Given the description of an element on the screen output the (x, y) to click on. 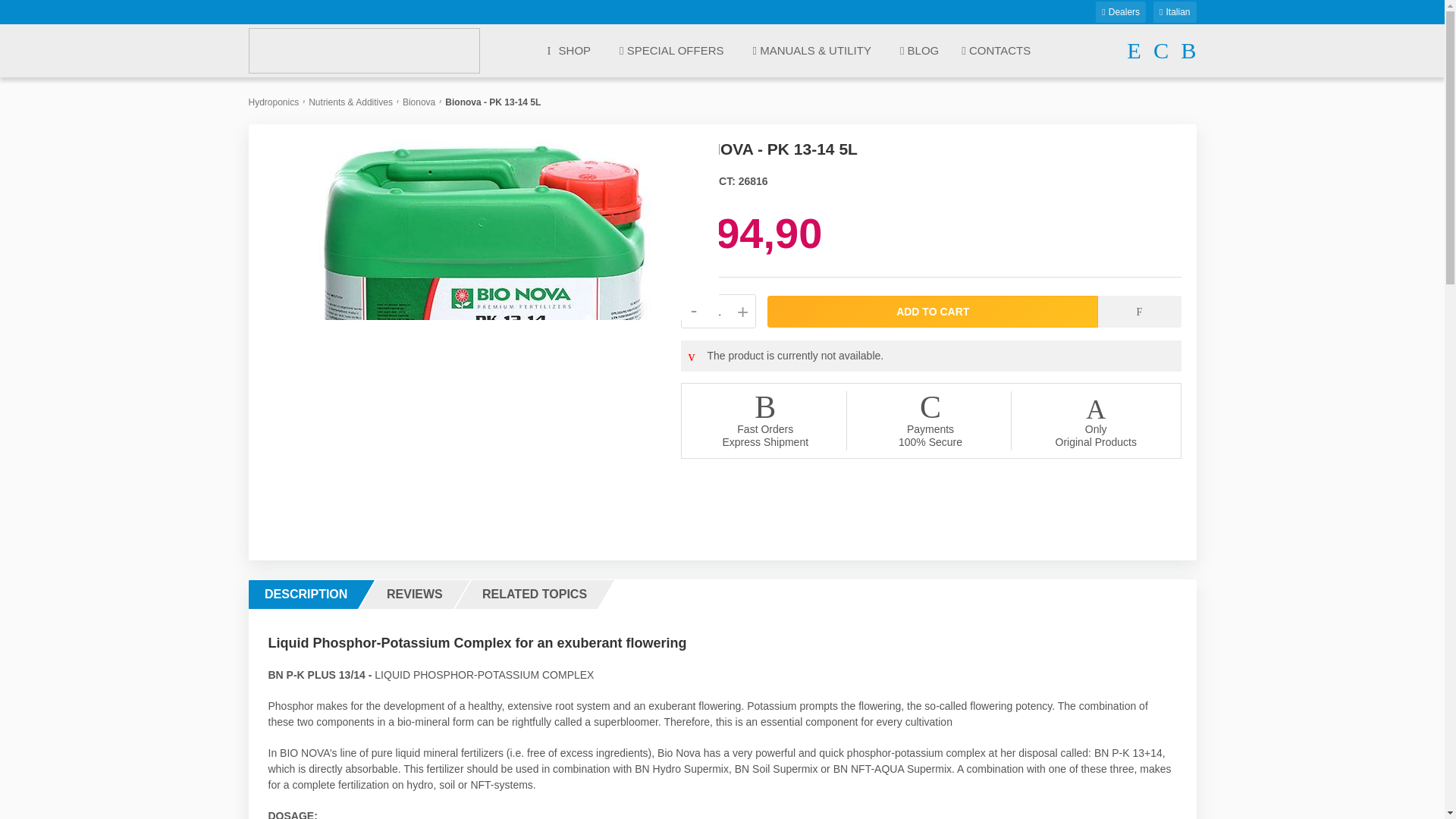
1 (718, 310)
Bionova (419, 102)
Dealers (1120, 11)
Bionova - PK 13-14 5L (491, 366)
Hydroponics (273, 102)
CONTACTS (995, 51)
SHOP (568, 50)
Italian (1174, 11)
SPECIAL OFFERS (671, 51)
Bionova (419, 102)
